Given the description of an element on the screen output the (x, y) to click on. 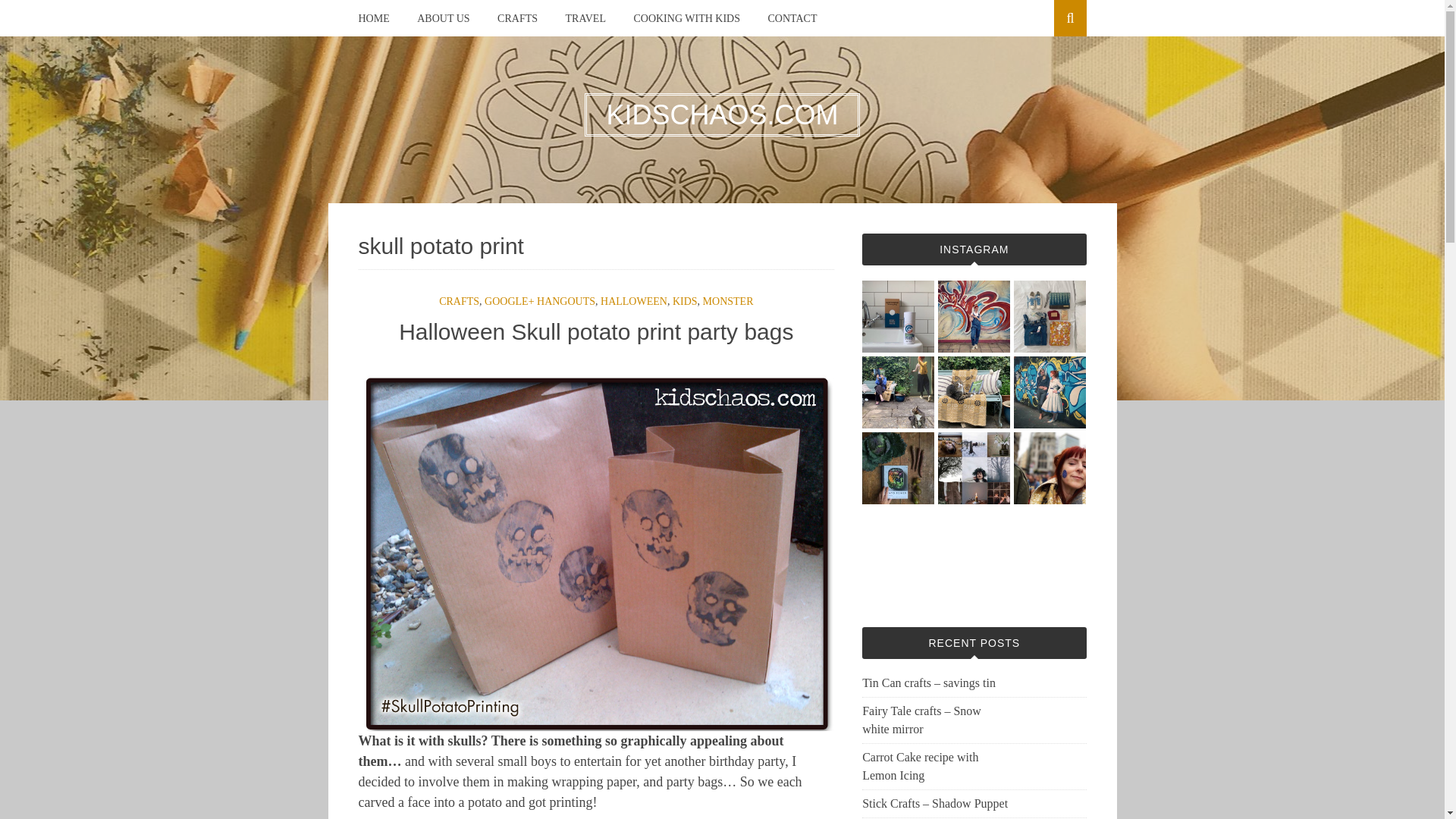
Halloween Skull potato print party bags (595, 330)
KIDSCHAOS.COM (722, 113)
COOKING WITH KIDS (686, 18)
KIDS (684, 301)
CONTACT (791, 18)
MONSTER (728, 301)
HOME (373, 18)
CRAFTS (459, 301)
ABOUT US (442, 18)
TRAVEL (585, 18)
HALLOWEEN (632, 301)
CRAFTS (517, 18)
who we are and what we do! (442, 18)
easy and quick recipes your kids can make with you (686, 18)
